Given the description of an element on the screen output the (x, y) to click on. 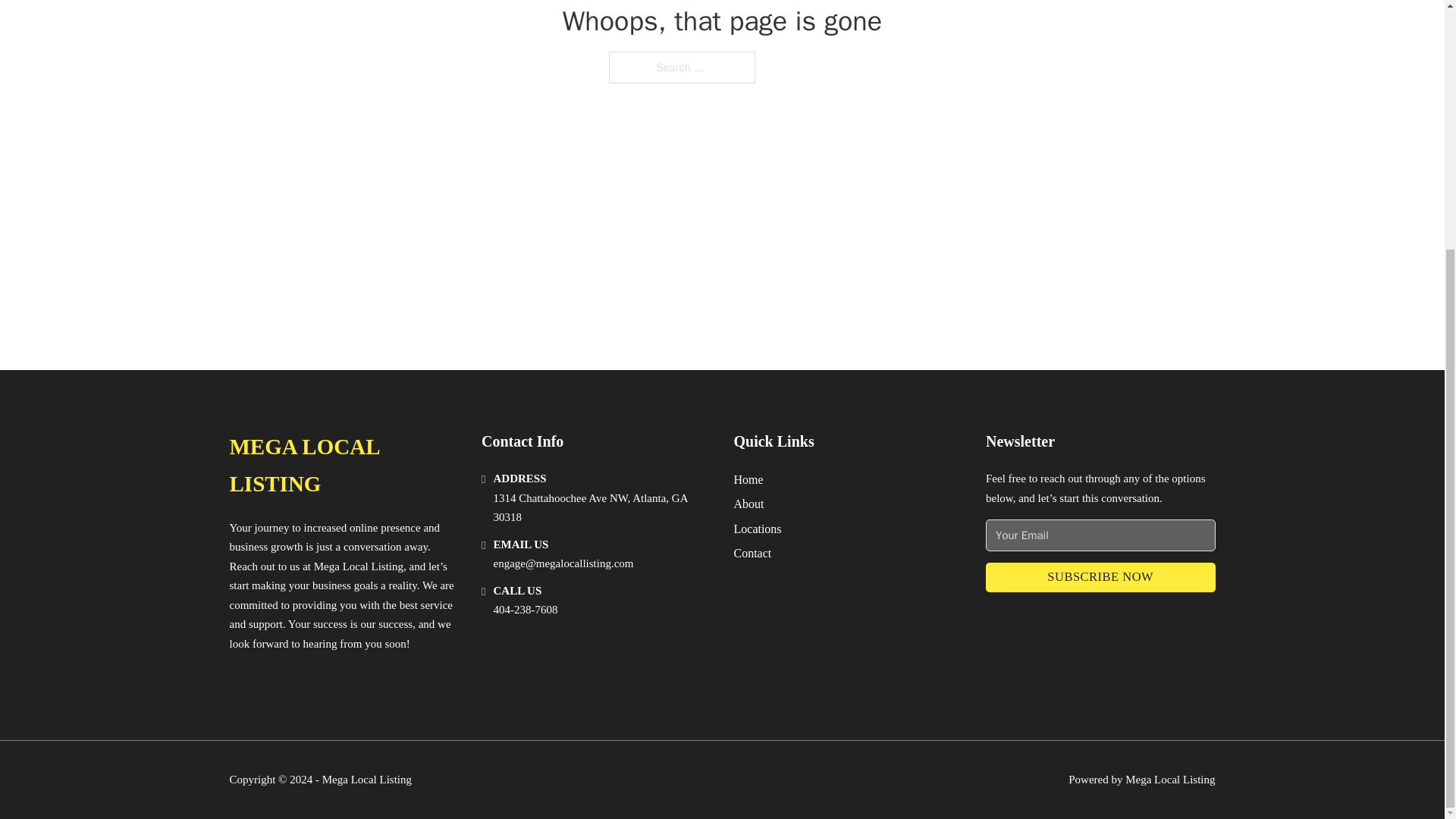
Home (747, 479)
About (748, 503)
SUBSCRIBE NOW (1100, 577)
404-238-7608 (525, 609)
MEGA LOCAL LISTING (343, 465)
Contact (752, 552)
Locations (757, 528)
